Given the description of an element on the screen output the (x, y) to click on. 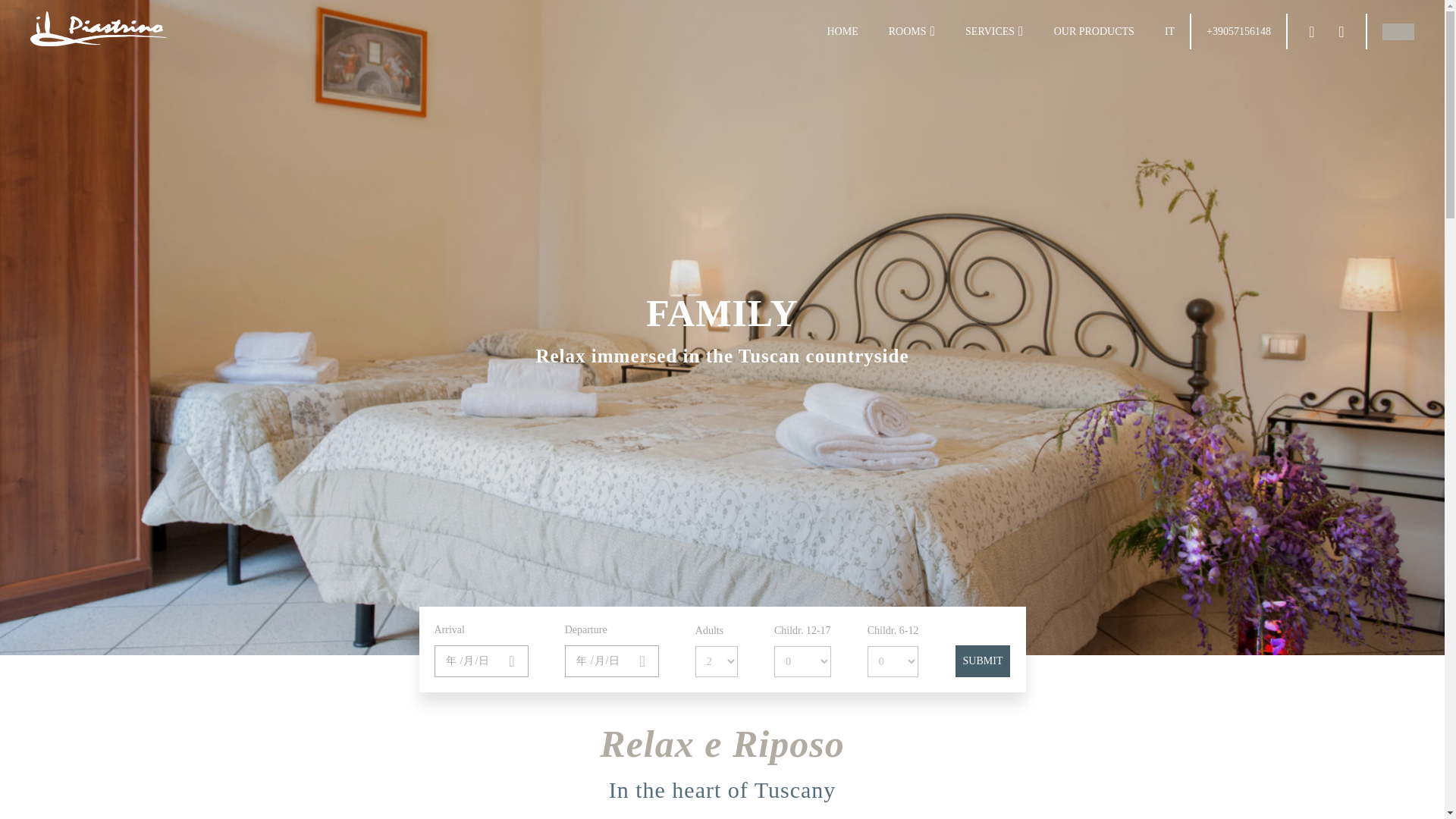
Submit (982, 661)
OUR PRODUCTS (1094, 31)
HOME (842, 31)
ROOMS (907, 31)
SERVICES (989, 31)
Submit (982, 661)
